Given the description of an element on the screen output the (x, y) to click on. 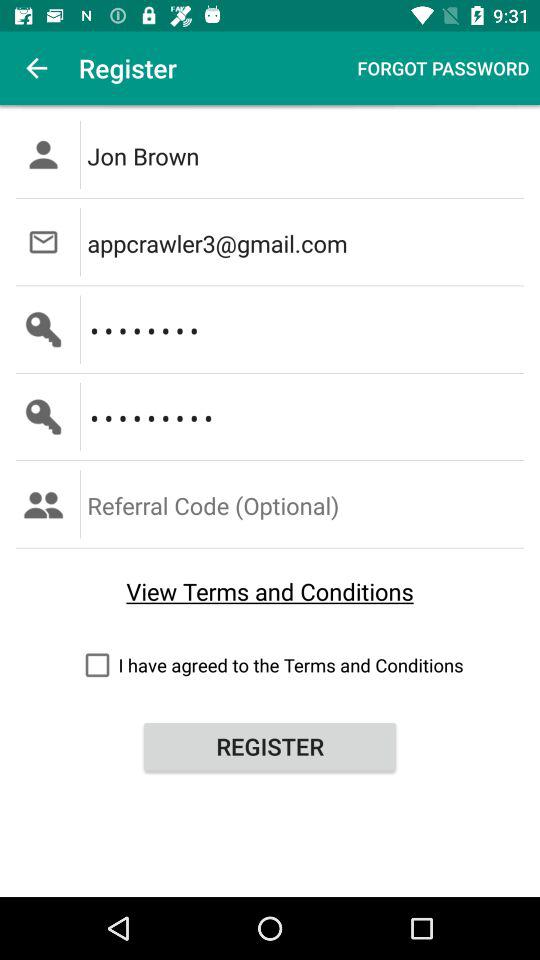
turn on the icon above register (269, 664)
